Given the description of an element on the screen output the (x, y) to click on. 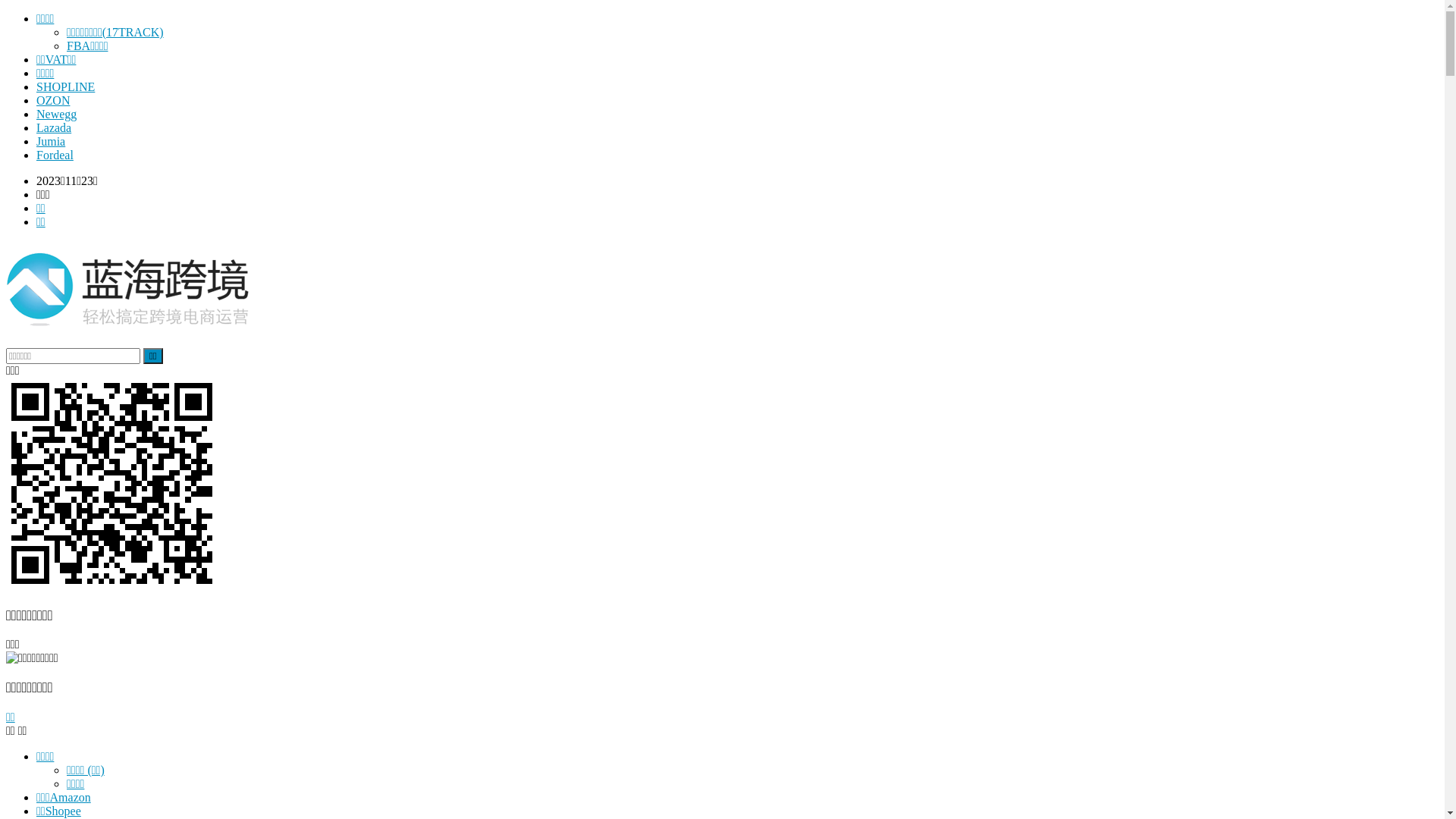
SHOPLINE Element type: text (65, 86)
Lazada Element type: text (53, 127)
Jumia Element type: text (50, 140)
OZON Element type: text (52, 100)
Newegg Element type: text (56, 113)
Fordeal Element type: text (54, 154)
